Given the description of an element on the screen output the (x, y) to click on. 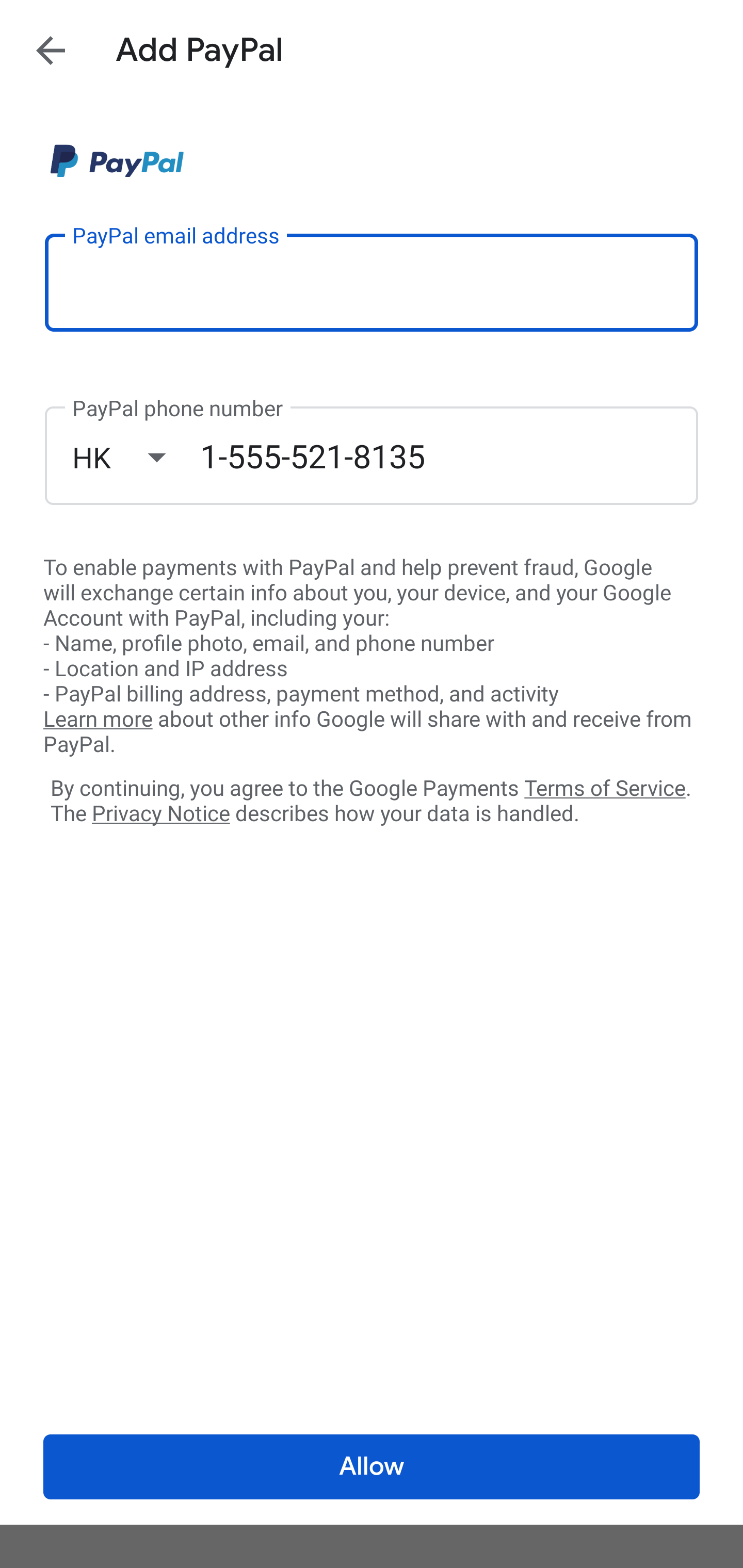
Navigate up (50, 50)
PayPal email address (371, 282)
HK (135, 456)
Learn more (97, 719)
Terms of Service (604, 787)
Privacy Notice (160, 814)
Allow (371, 1466)
